Given the description of an element on the screen output the (x, y) to click on. 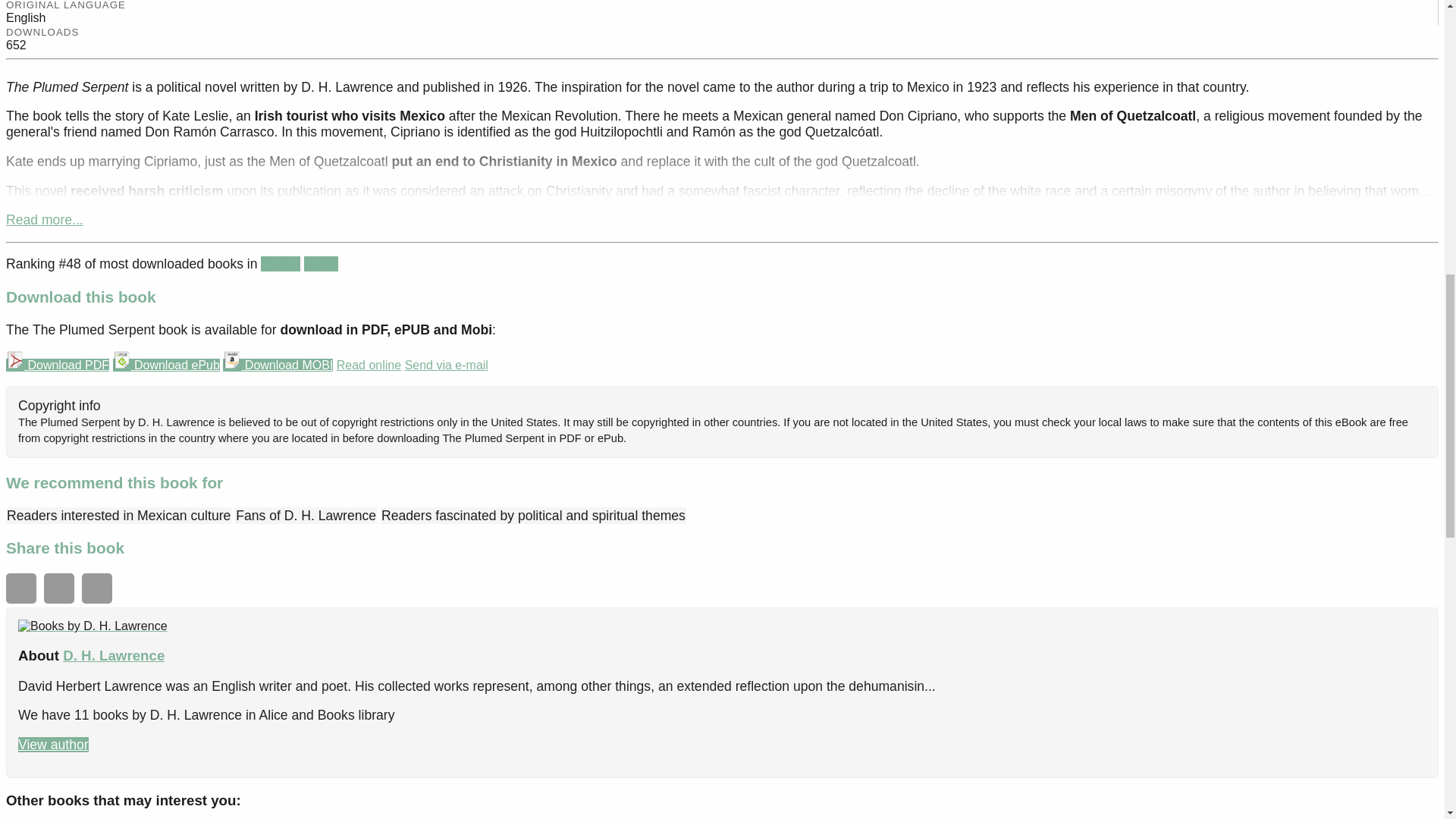
Novel (320, 263)
Download PDF (57, 364)
Share on Twitter (96, 588)
The Plumed Serpent in PDF (57, 364)
D. H. Lawrence (92, 626)
Share on Whatsapp (20, 588)
D. H. Lawrence (113, 655)
Fiction (279, 263)
Download MOBI (277, 364)
Send via e-mail (445, 364)
Read more... (43, 219)
Download ePub (165, 364)
Facebook (58, 588)
The Plumed Serpent in MOBI (277, 364)
View author (52, 744)
